Given the description of an element on the screen output the (x, y) to click on. 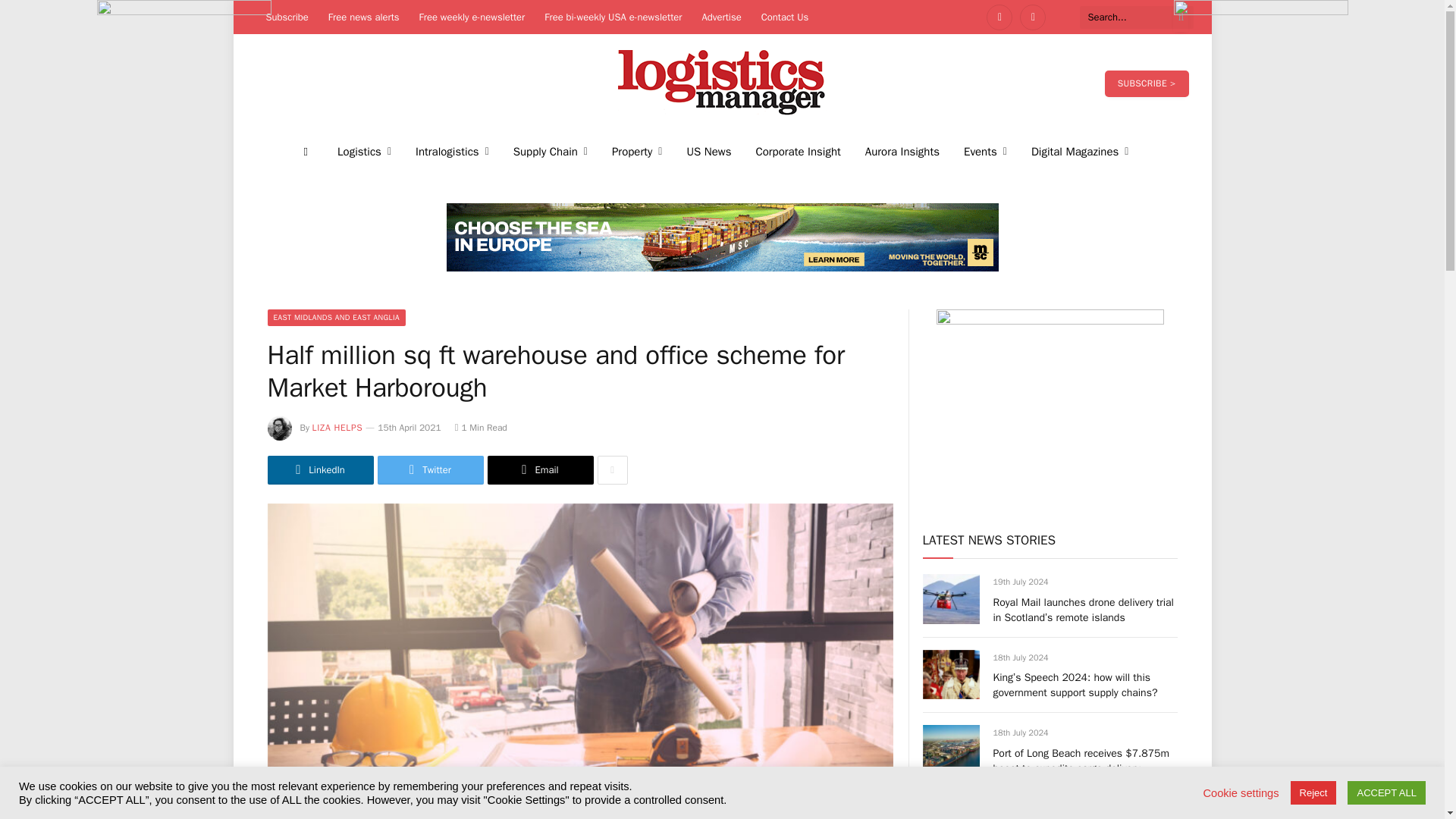
Share on LinkedIn (319, 469)
Logistics Manager (722, 83)
Show More Social Sharing (611, 469)
Posts by Liza Helps (337, 427)
Share via Email (539, 469)
